Given the description of an element on the screen output the (x, y) to click on. 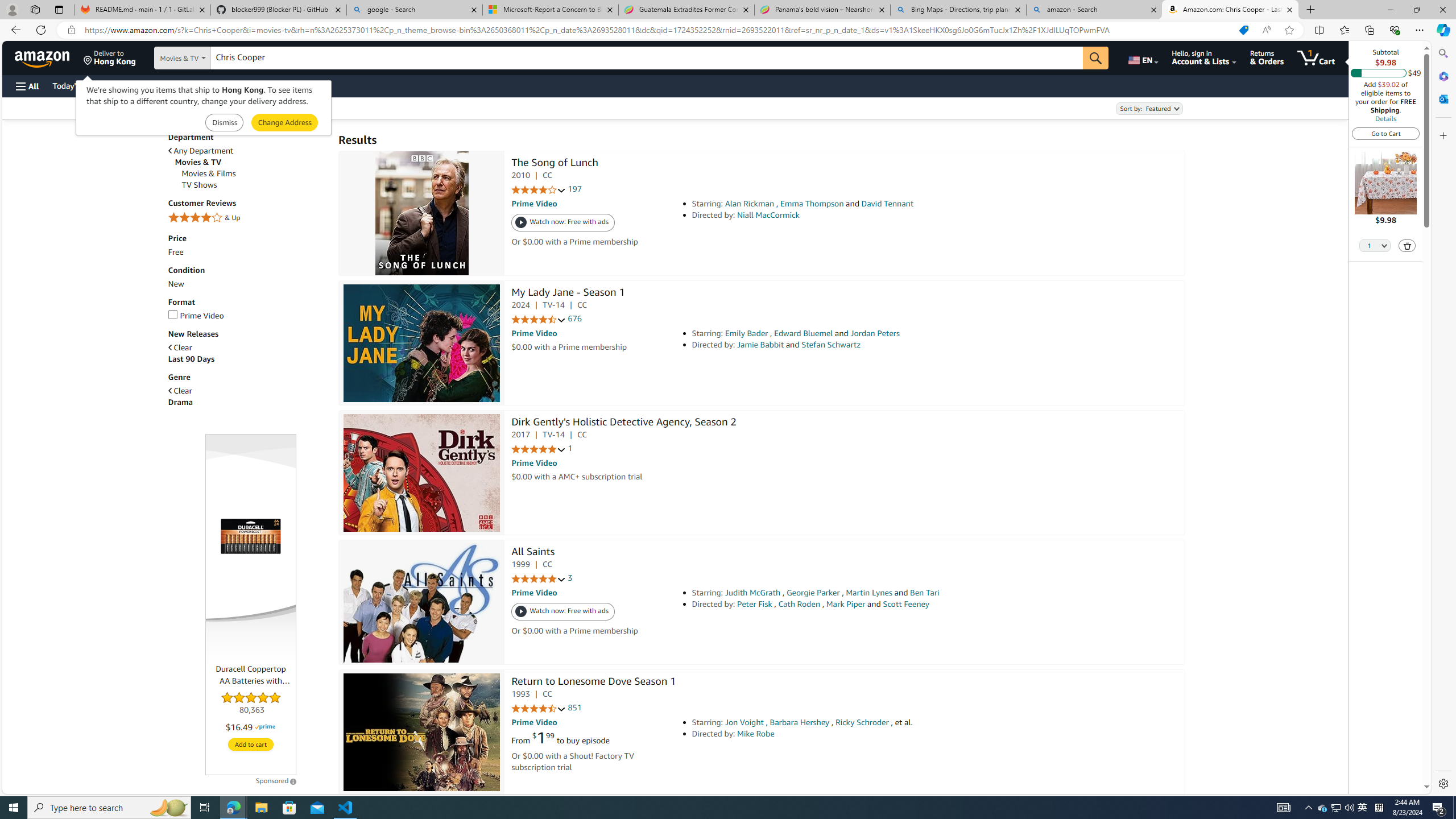
Emma Thompson (812, 203)
1 item in cart (1315, 57)
Ben Tari (924, 592)
Skip to main content (48, 56)
Movies & TV (250, 162)
Skip to main search results (50, 788)
Starring: Alan Rickman , Emma Thompson and David Tennant (850, 203)
3 (569, 578)
Prime Video (247, 316)
The Song of Lunch (554, 163)
Amazon (43, 57)
Any Department (200, 150)
4 Stars & Up (247, 218)
Barbara Hershey (799, 722)
Edward Bluemel (803, 333)
